Given the description of an element on the screen output the (x, y) to click on. 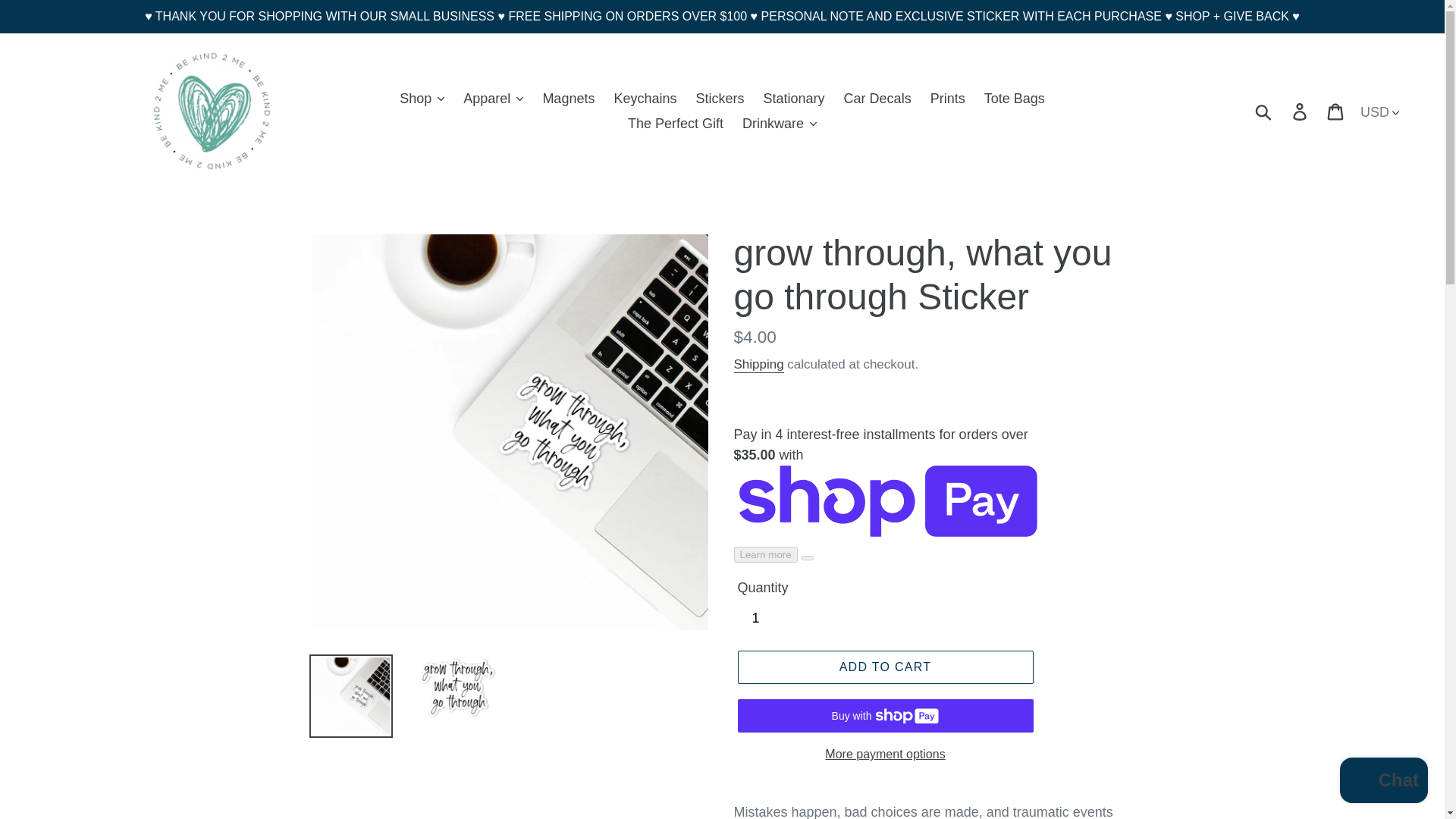
Cart (1336, 110)
Keychains (644, 98)
Stickers (720, 98)
Stationary (793, 98)
Tote Bags (1014, 98)
Submit (1264, 110)
Log in (1300, 110)
The Perfect Gift (675, 122)
Shopify online store chat (1383, 781)
Prints (947, 98)
